Given the description of an element on the screen output the (x, y) to click on. 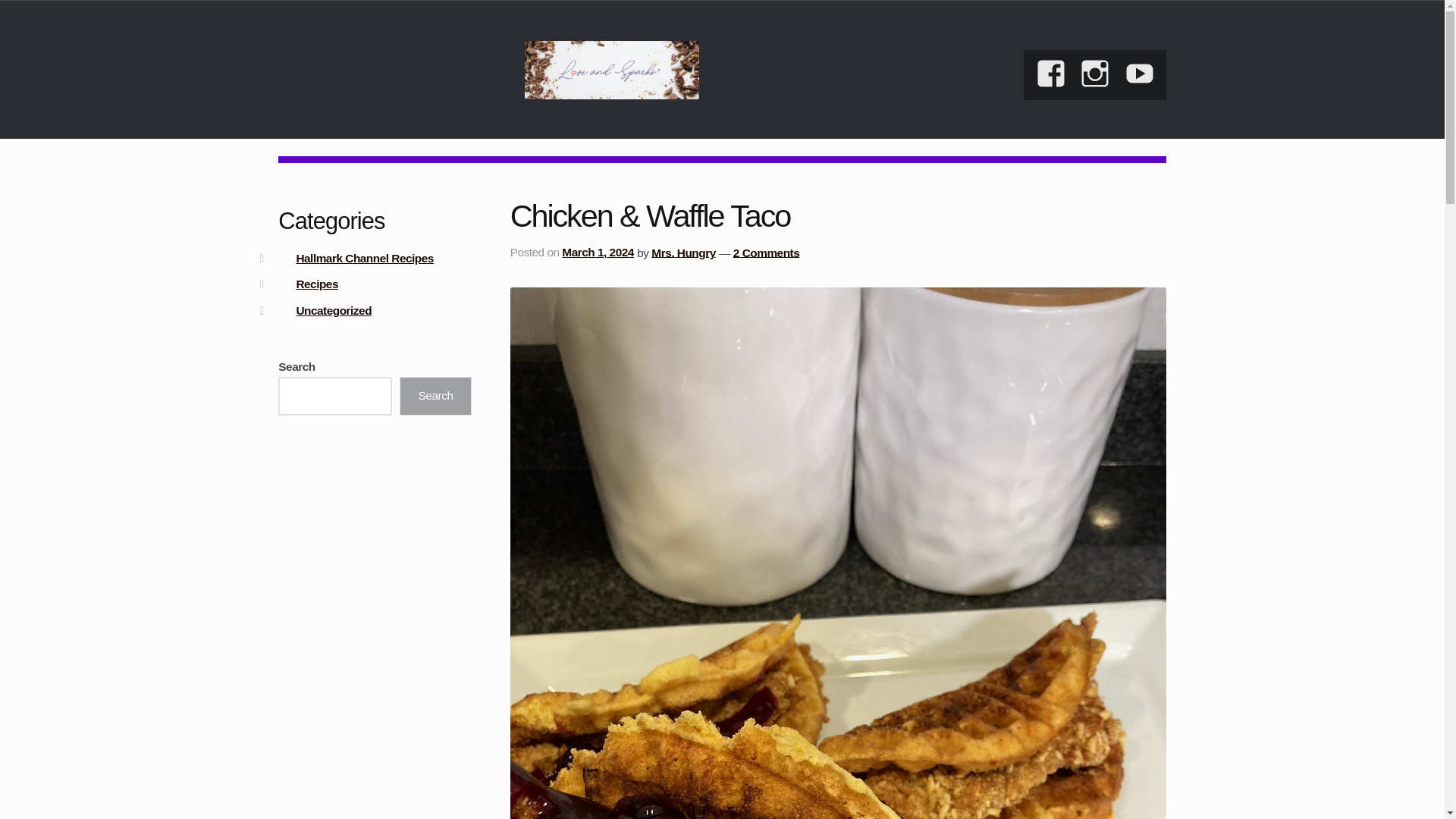
Mrs. Hungry (682, 251)
Uncategorized (333, 309)
March 1, 2024 (597, 251)
2 Comments (766, 251)
Search (434, 395)
Recipes (316, 283)
Hallmark Channel Recipes (364, 257)
